Given the description of an element on the screen output the (x, y) to click on. 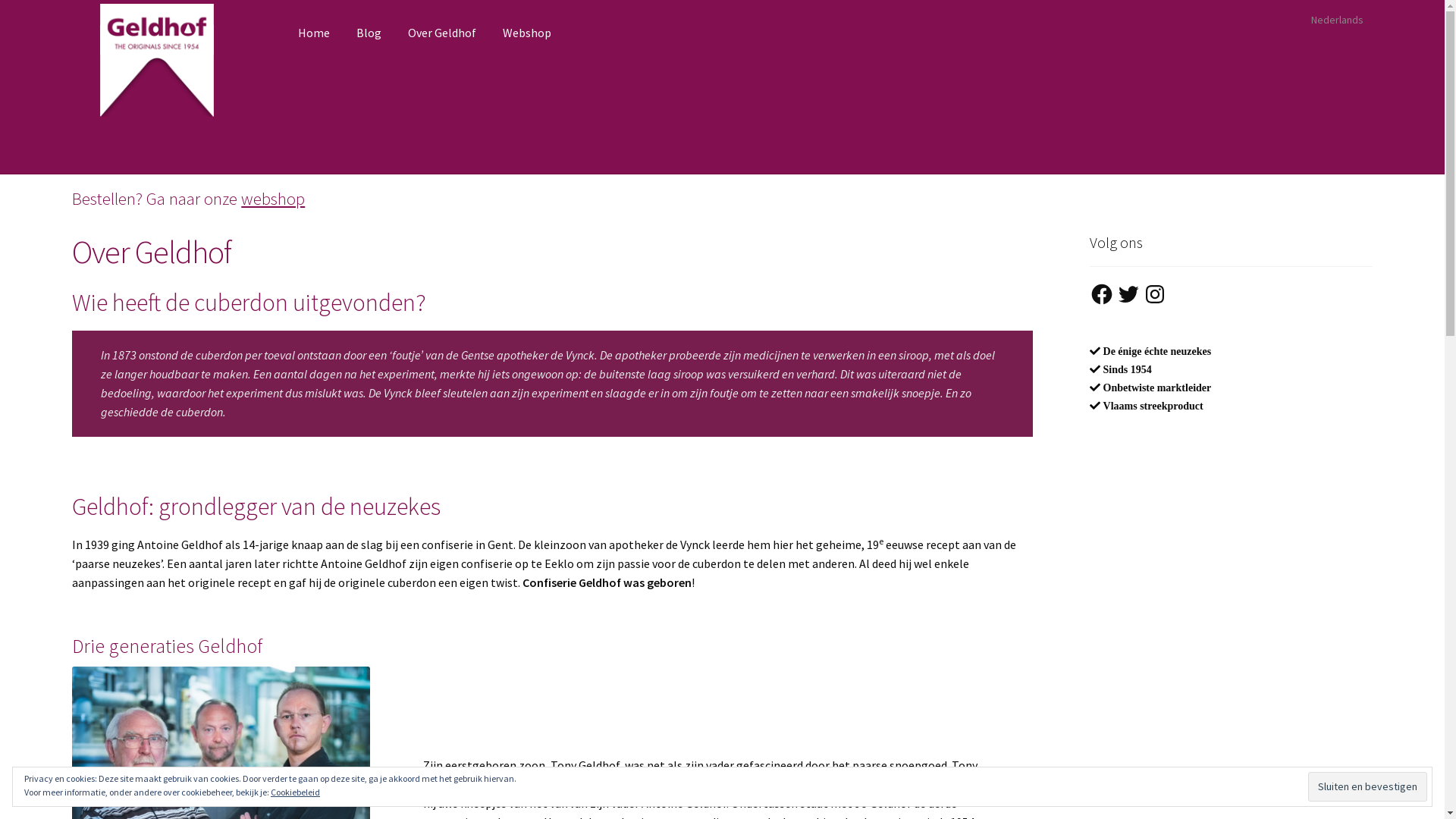
Home Element type: text (313, 32)
Cookiebeleid Element type: text (295, 791)
Blog Element type: text (368, 32)
Facebook Element type: text (1101, 294)
Over Geldhof Element type: text (441, 32)
Nederlands Element type: text (1336, 19)
Twitter Element type: text (1128, 294)
webshop Element type: text (272, 198)
Instagram Element type: text (1154, 294)
Webshop Element type: text (526, 32)
Sluiten en bevestigen Element type: text (1367, 786)
